Given the description of an element on the screen output the (x, y) to click on. 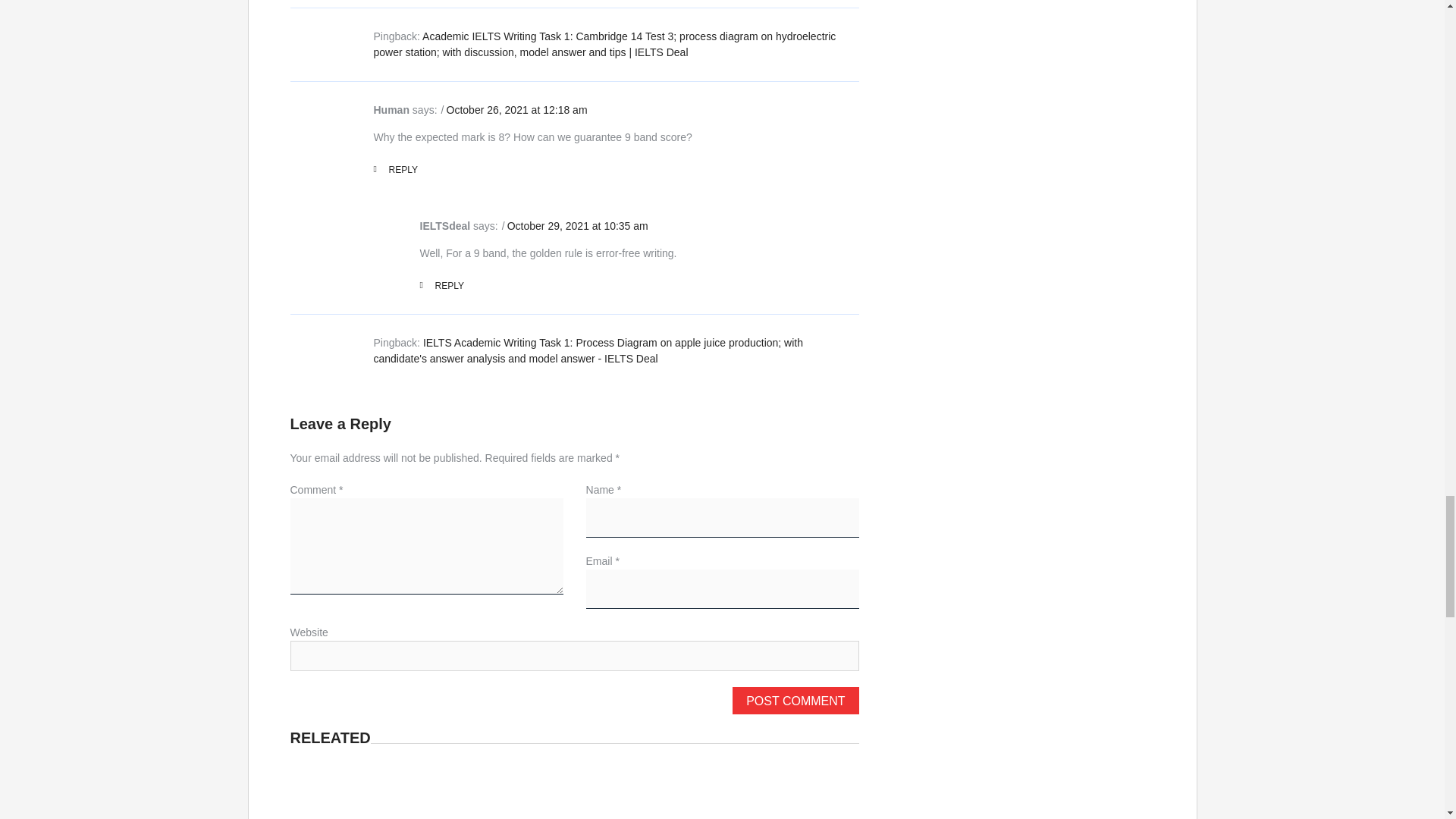
Post Comment (795, 700)
